Given the description of an element on the screen output the (x, y) to click on. 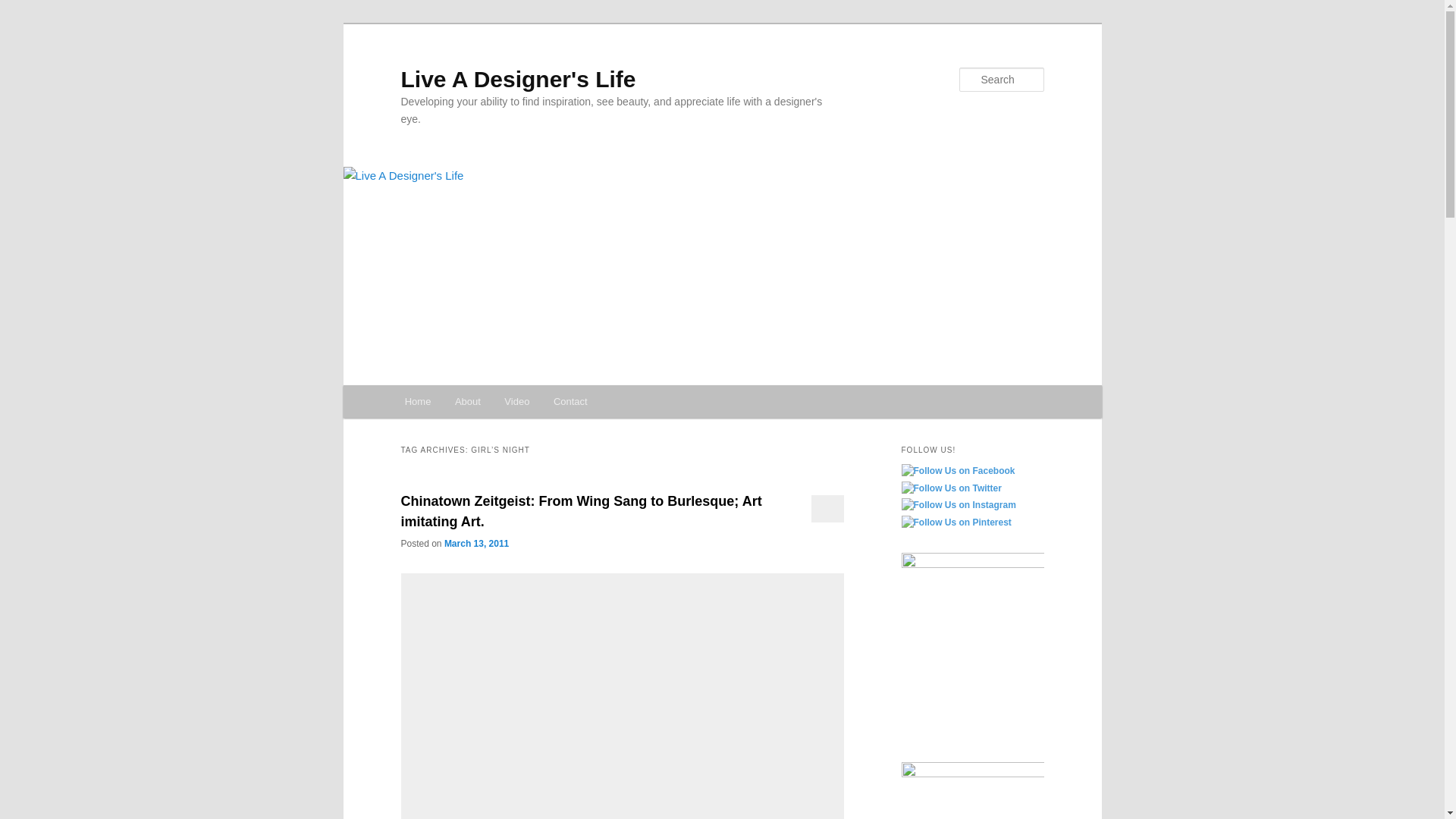
Search (24, 8)
March 13, 2011 (476, 543)
Follow Us on Pinterest (955, 522)
Contact (569, 400)
Home (417, 400)
Video (517, 400)
Follow Us on Facebook (957, 471)
3:15 pm (476, 543)
About (467, 400)
Live A Designer's Life (517, 78)
Follow Us on Instagram (957, 505)
Follow Us on Twitter (951, 488)
